Given the description of an element on the screen output the (x, y) to click on. 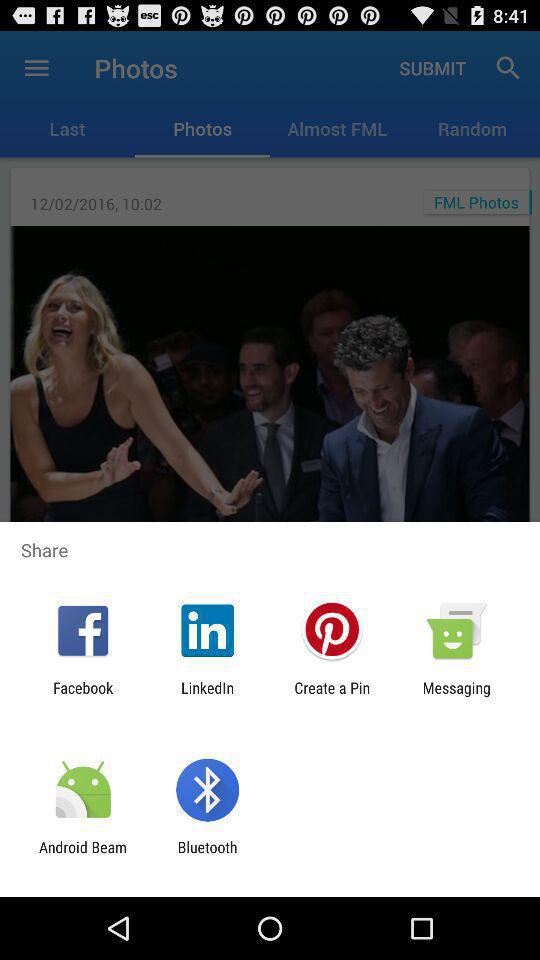
turn on bluetooth item (207, 856)
